Given the description of an element on the screen output the (x, y) to click on. 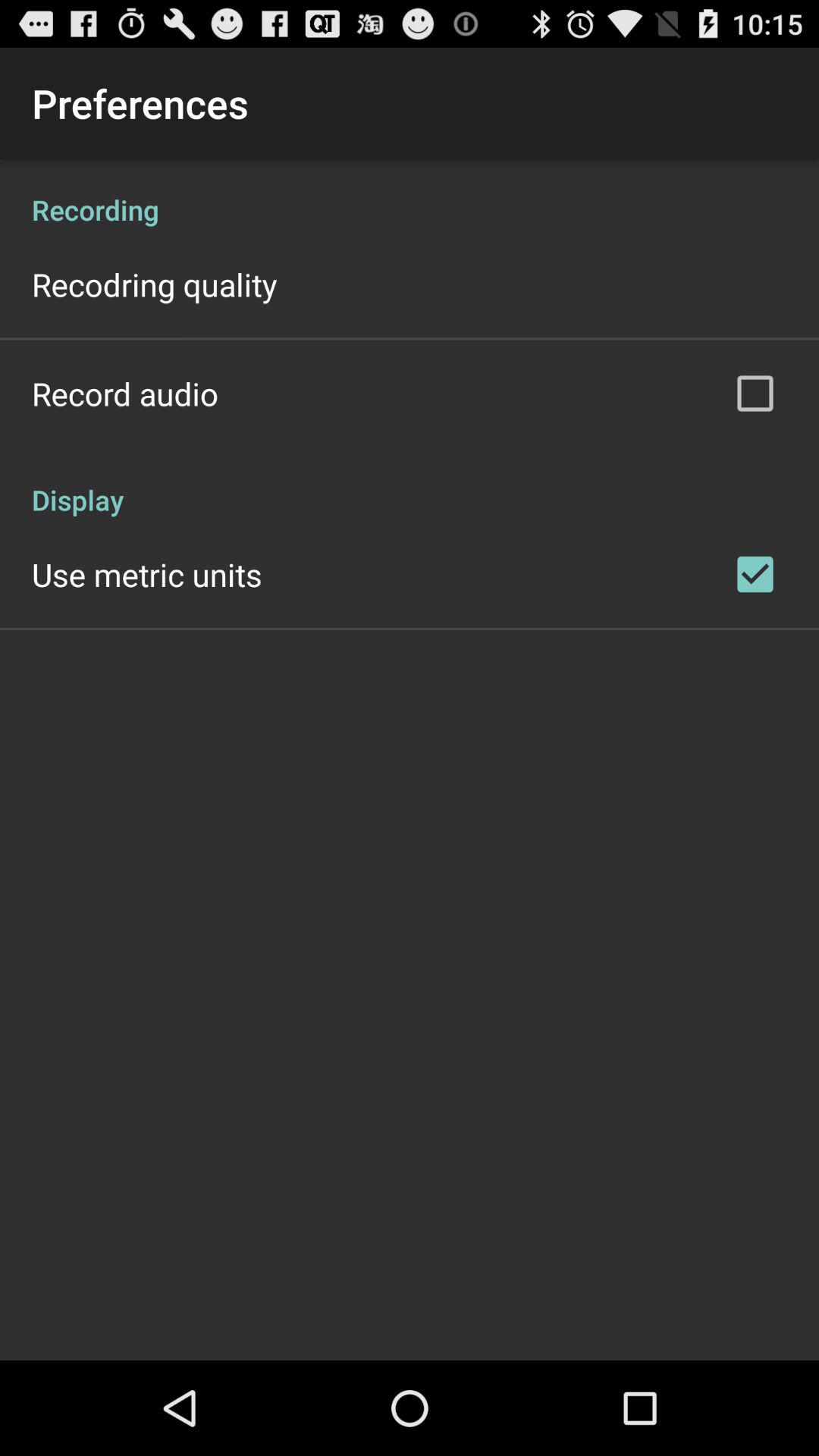
swipe to the record audio app (124, 393)
